Given the description of an element on the screen output the (x, y) to click on. 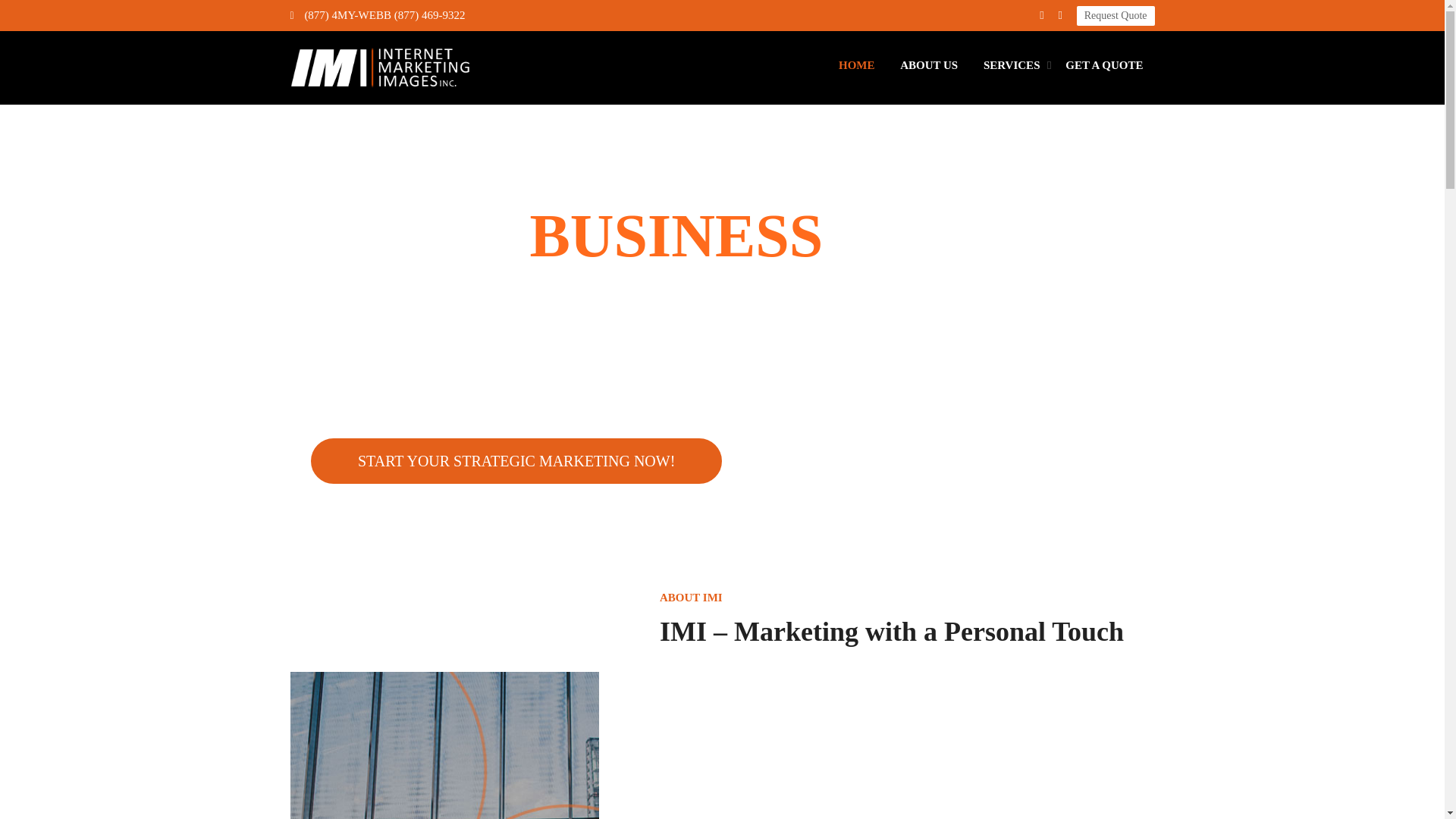
GET A QUOTE (1103, 65)
HOME (856, 65)
Request Quote (1115, 15)
SERVICES (1012, 65)
START YOUR STRATEGIC MARKETING NOW! (516, 460)
aboutus (443, 745)
ABOUT US (928, 65)
